Given the description of an element on the screen output the (x, y) to click on. 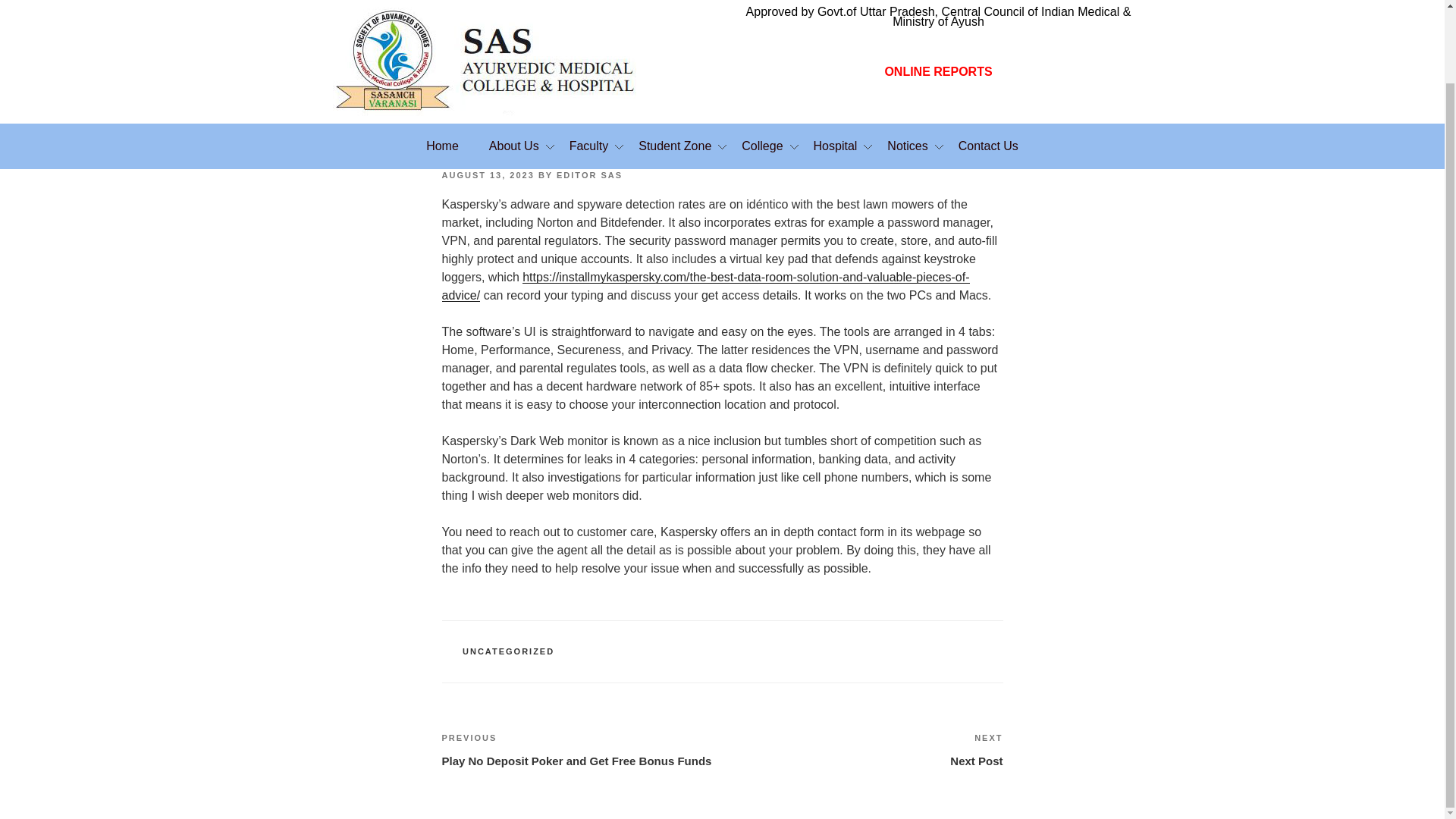
Home (442, 146)
About Us (514, 146)
Faculty (589, 146)
ONLINE REPORTS (937, 71)
Student Zone (674, 146)
